Given the description of an element on the screen output the (x, y) to click on. 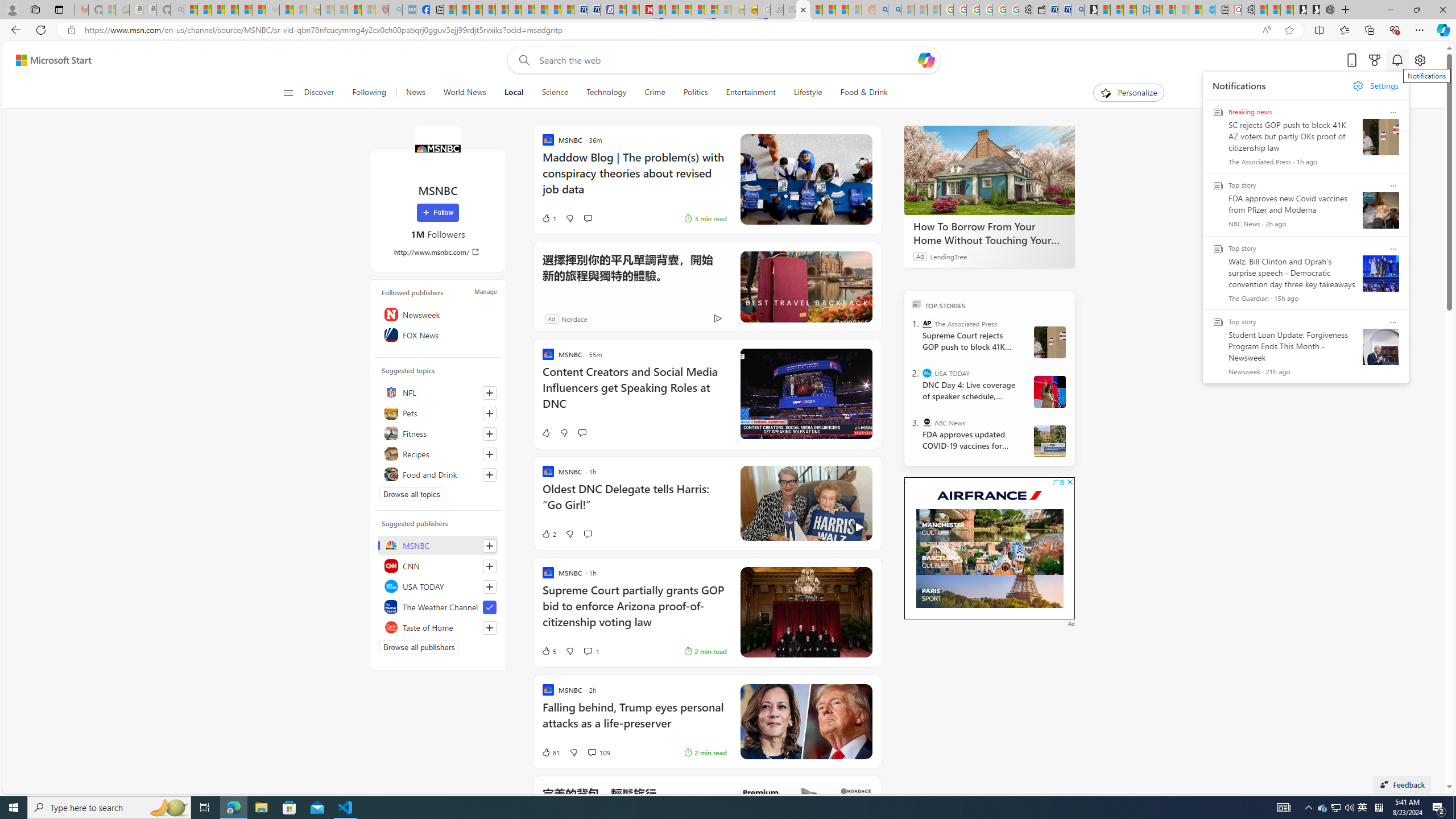
The Weather Channel (437, 606)
TOP (916, 302)
Technology (605, 92)
Food and Drink (437, 474)
Follow this source (489, 627)
LendingTree (948, 256)
Card Action (1393, 322)
CNN (437, 565)
Follow this topic (489, 474)
Bing Real Estate - Home sales and rental listings (1077, 9)
